Given the description of an element on the screen output the (x, y) to click on. 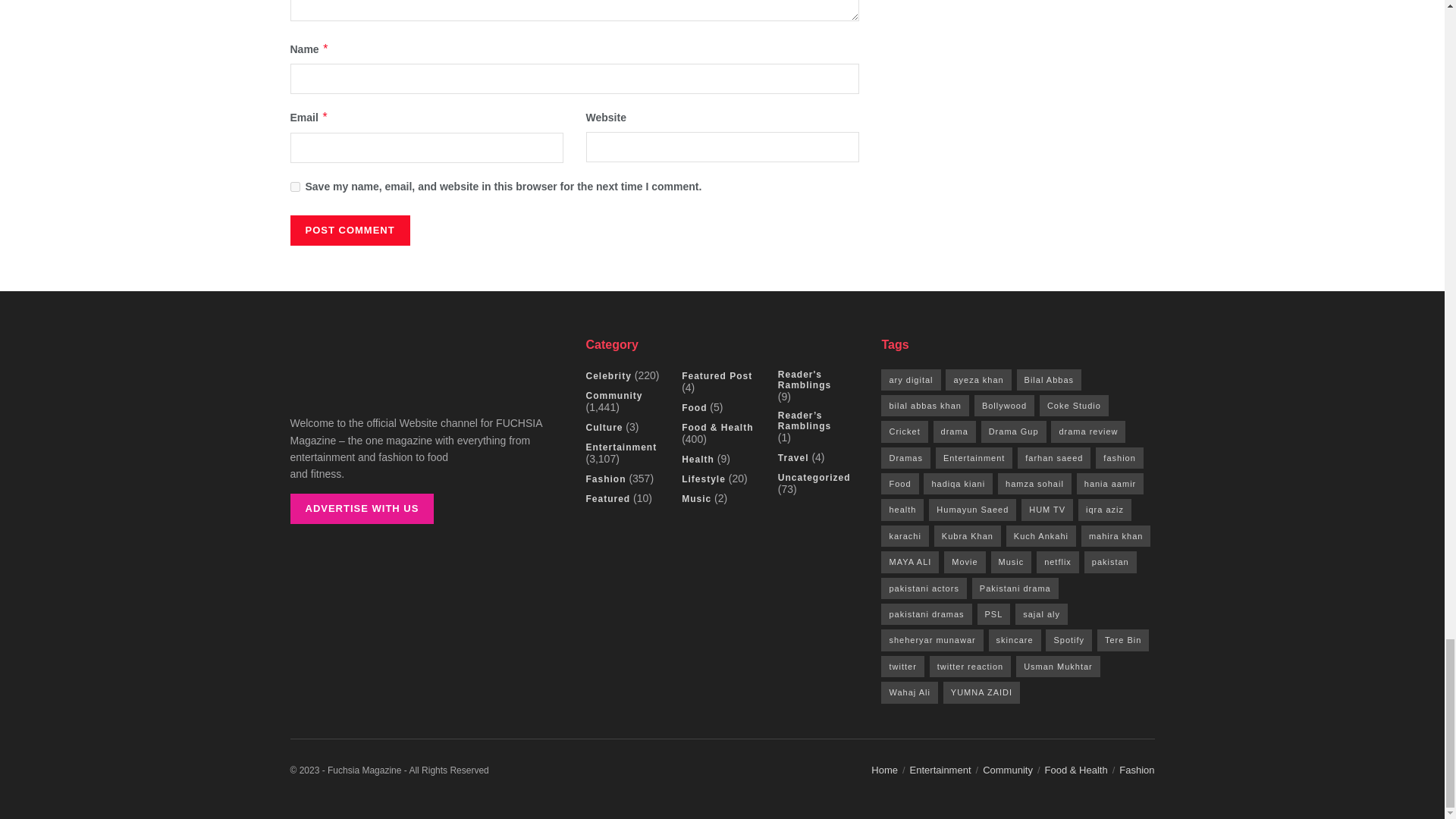
yes (294, 186)
Post Comment (349, 230)
